Given the description of an element on the screen output the (x, y) to click on. 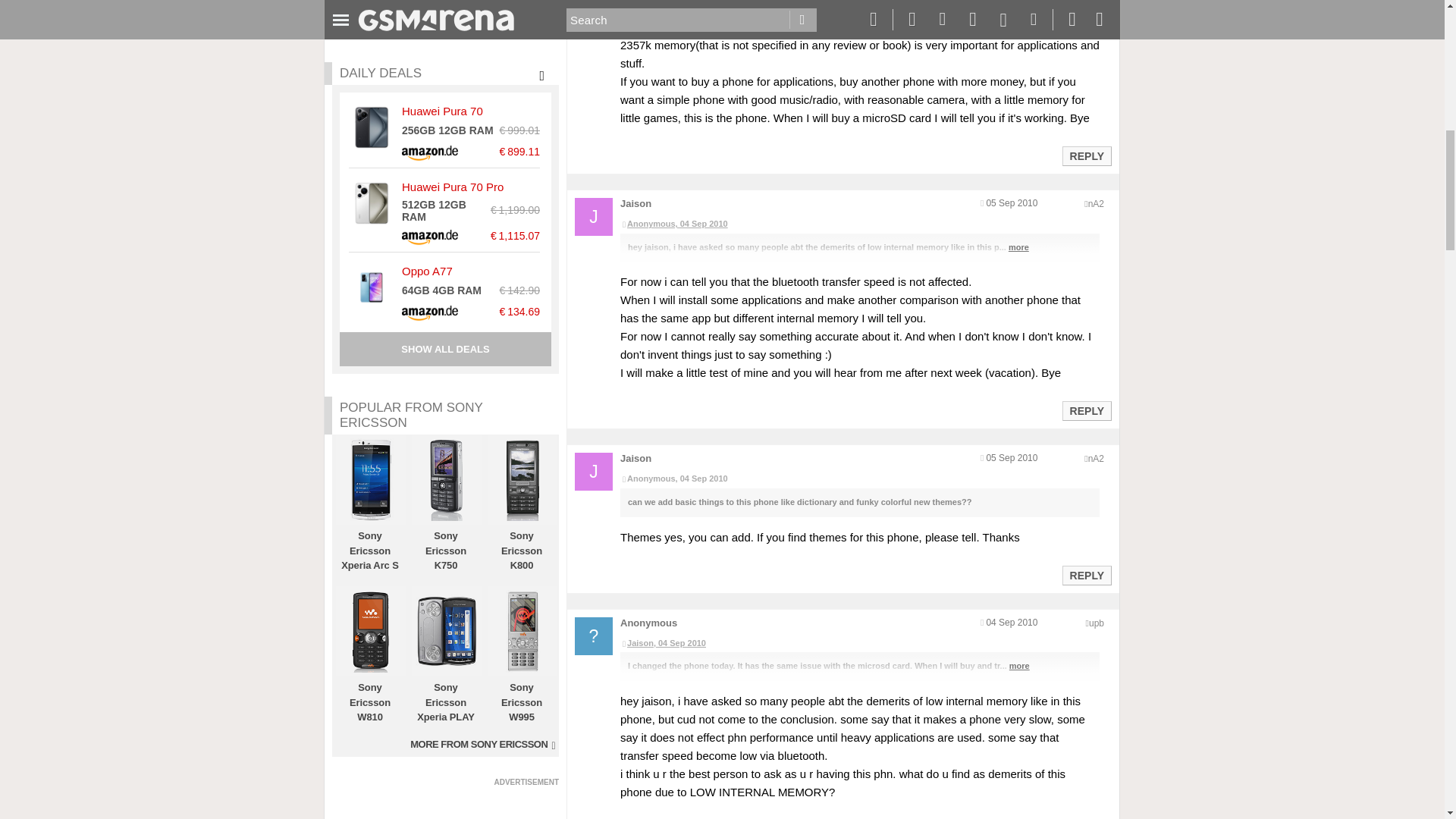
Reply to this post (1086, 155)
Reply to this post (1086, 410)
Encoded anonymized location (1095, 458)
Reply to this post (1086, 575)
Encoded anonymized location (1096, 623)
Encoded anonymized location (1095, 204)
